Given the description of an element on the screen output the (x, y) to click on. 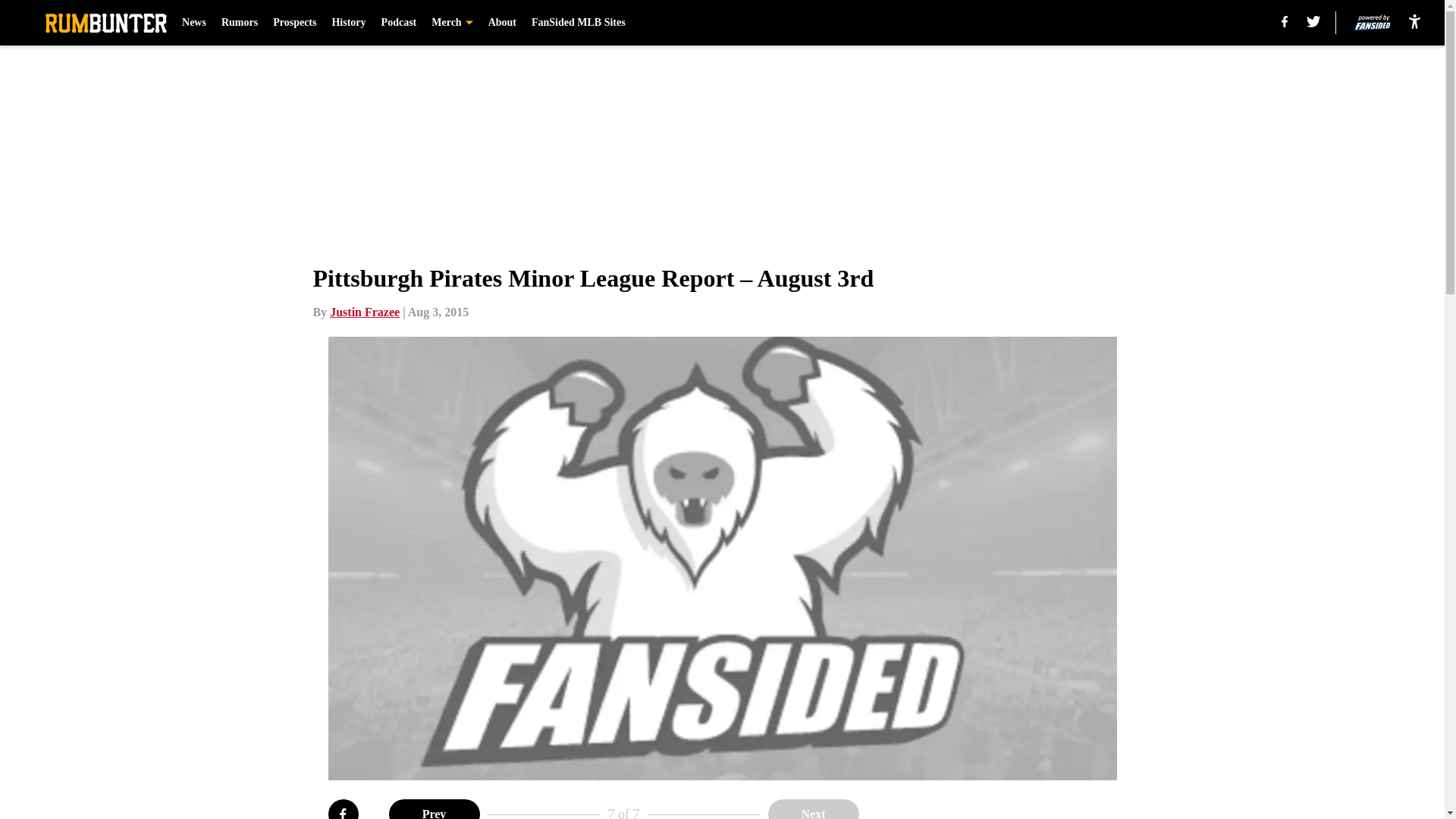
Prev (433, 809)
Justin Frazee (364, 311)
Rumors (239, 22)
Podcast (398, 22)
About (501, 22)
Prospects (294, 22)
Next (813, 809)
History (348, 22)
FanSided MLB Sites (578, 22)
News (194, 22)
